Given the description of an element on the screen output the (x, y) to click on. 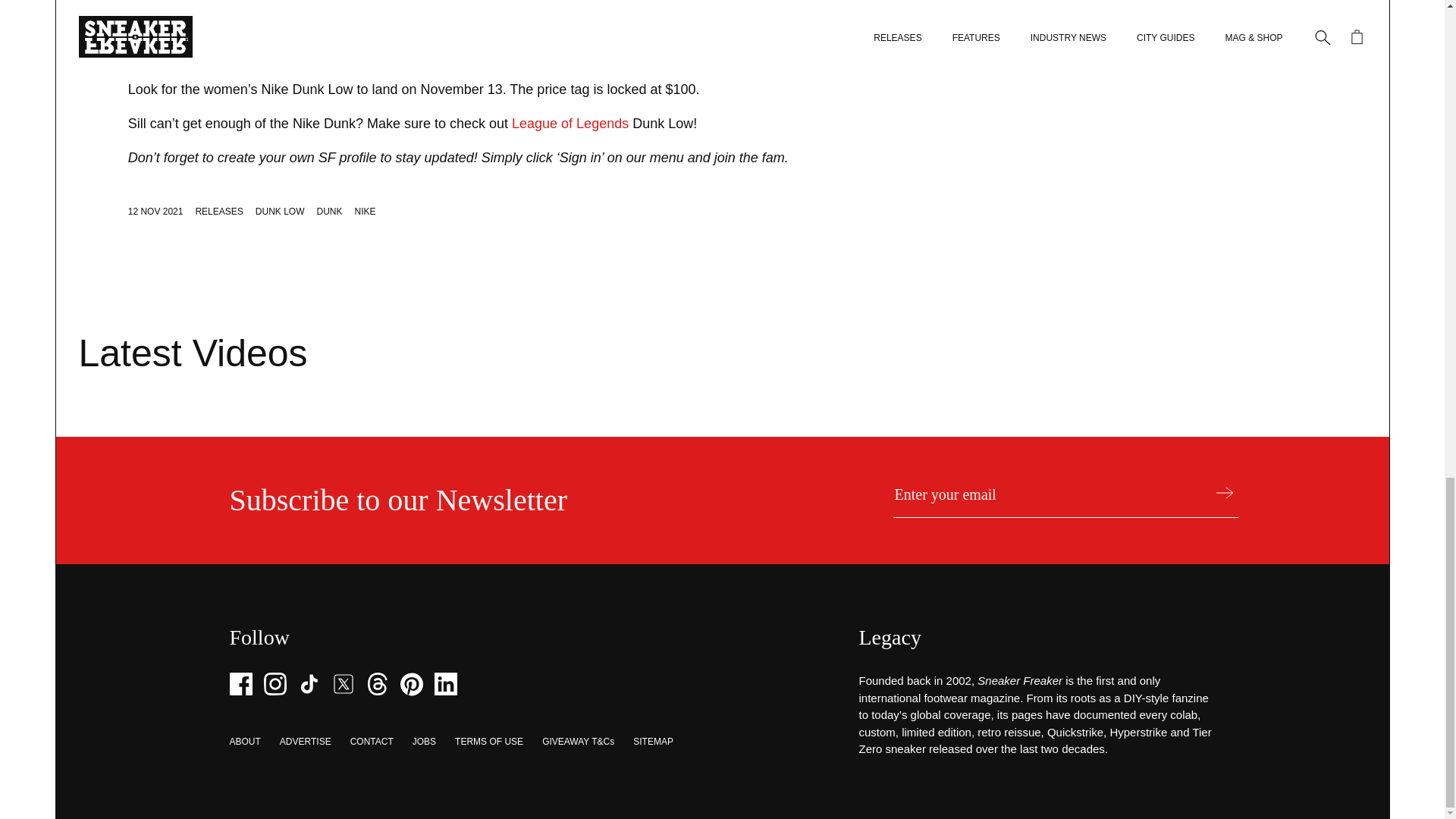
CONTACT (371, 741)
NIKE (365, 211)
League of Legends (570, 122)
JOBS (423, 741)
DUNK (329, 211)
TERMS OF USE (488, 741)
DUNK LOW (280, 211)
ADVERTISE (305, 741)
ABOUT (244, 741)
SITEMAP (652, 741)
RELEASES (219, 211)
